Given the description of an element on the screen output the (x, y) to click on. 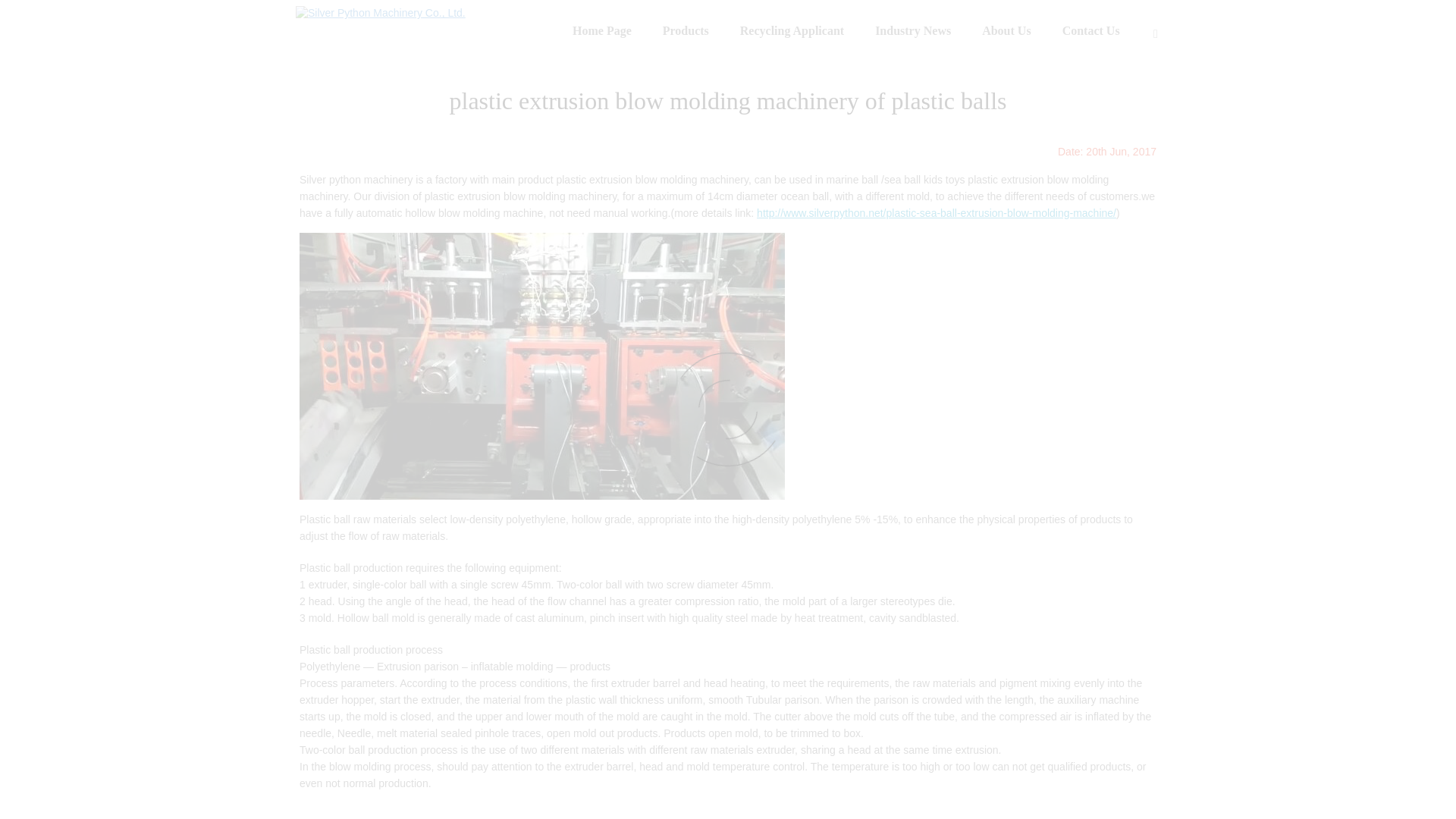
Silver Python Machinery Co., Ltd. (380, 12)
Home Page (602, 31)
About Us (1006, 31)
Products (686, 31)
Recycling Applicant (792, 31)
Industry News (913, 31)
Contact Us (1090, 31)
